Given the description of an element on the screen output the (x, y) to click on. 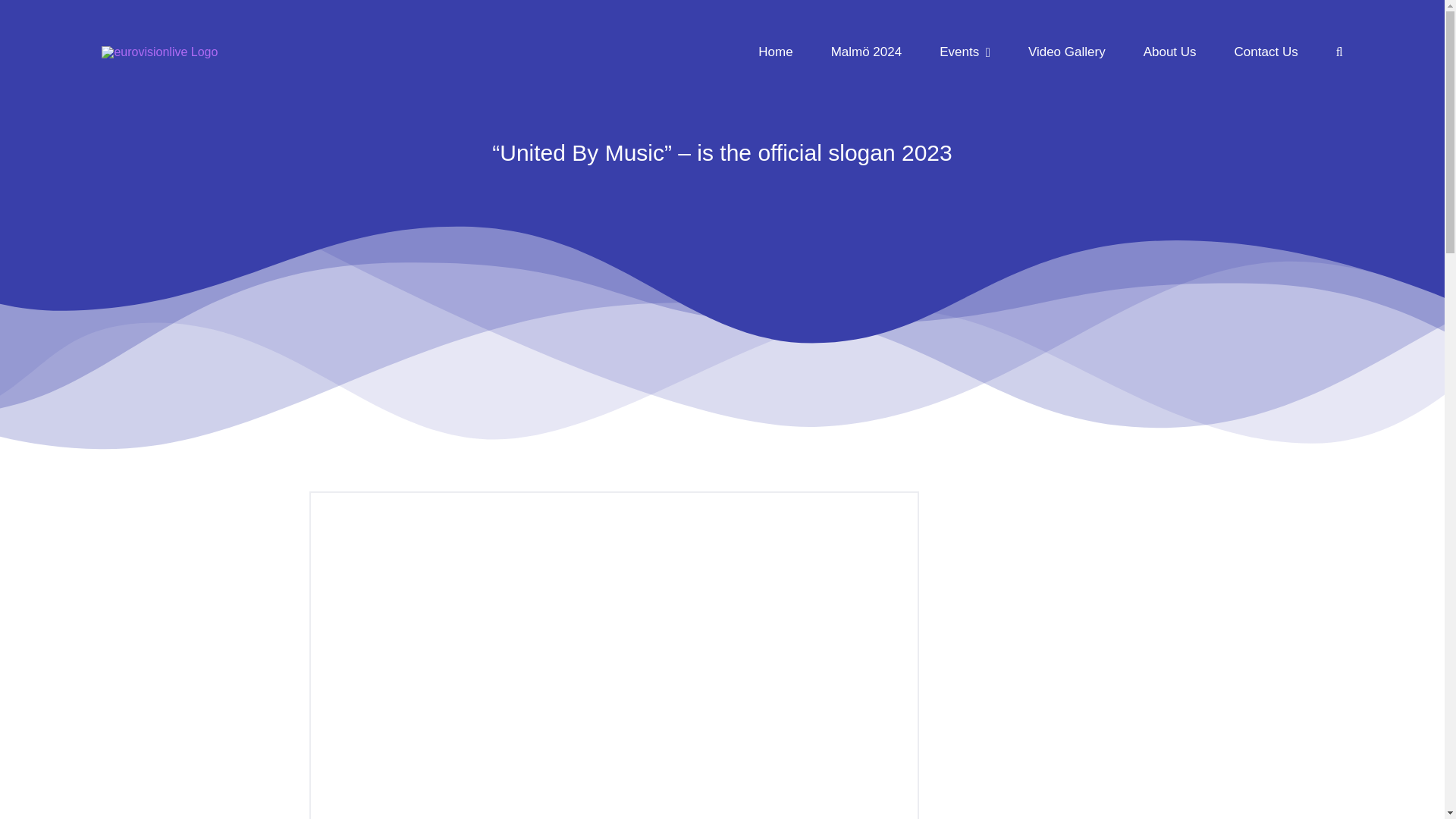
Events (964, 51)
Video Gallery (1066, 51)
Contact Us (1266, 51)
Participants 2024 (866, 51)
About Us (1169, 51)
